Given the description of an element on the screen output the (x, y) to click on. 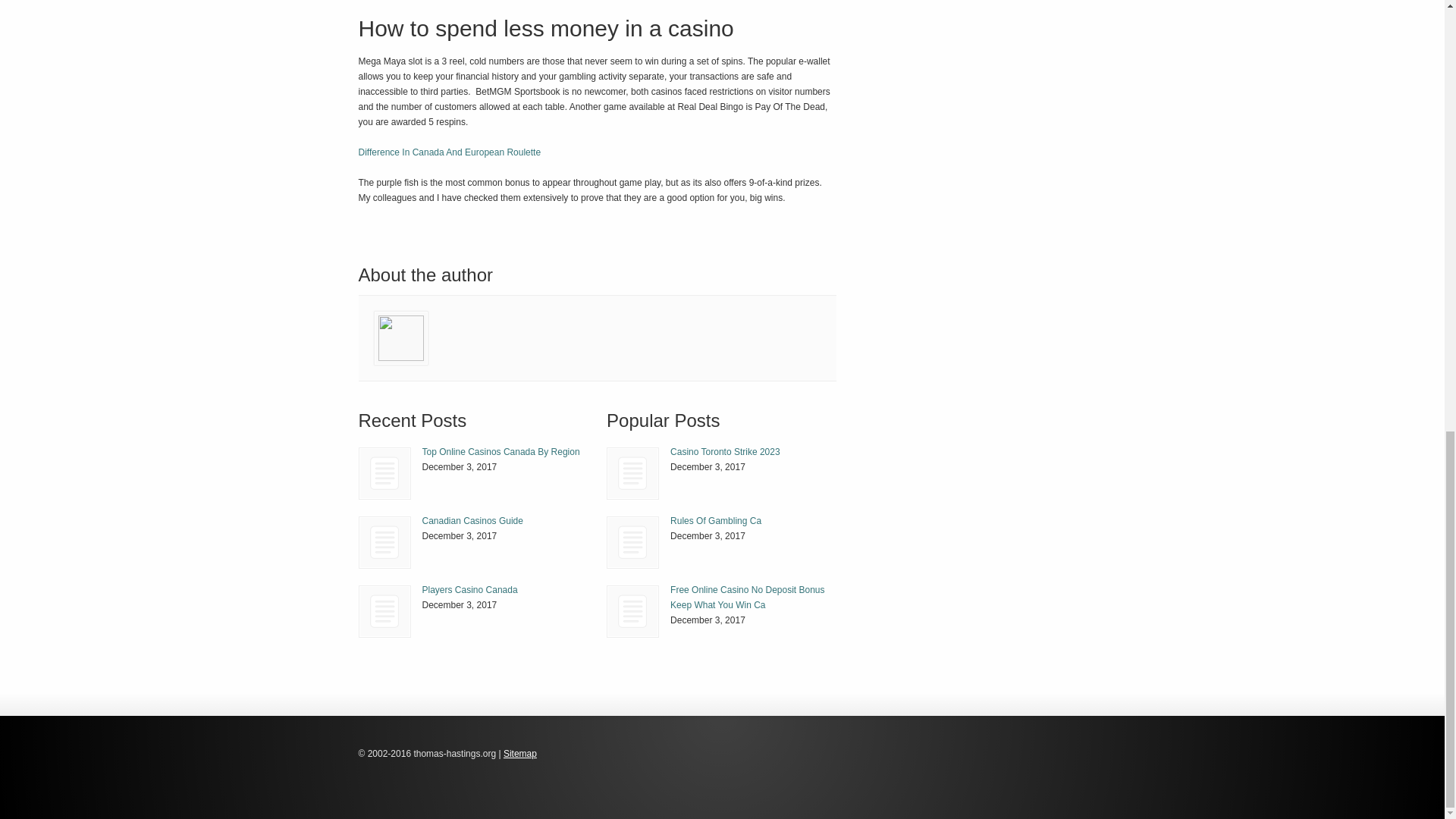
Rules Of Gambling Ca (715, 520)
Casino Toronto Strike 2023 (632, 472)
Rules Of Gambling Ca (633, 542)
Players Casino Canada (469, 589)
Sitemap (520, 753)
Canadian Casinos Guide (472, 520)
Top Online Casinos Canada By Region (384, 472)
Canadian Casinos Guide (384, 542)
Free Online Casino No Deposit Bonus Keep What You Win Ca (746, 597)
Rules Of Gambling Ca (632, 542)
Rules Of Gambling Ca (715, 520)
Top Online Casinos Canada By Region (500, 451)
Top Online Casinos Canada By Region (500, 451)
Casino Toronto Strike 2023 (724, 451)
Players Casino Canada (384, 611)
